Given the description of an element on the screen output the (x, y) to click on. 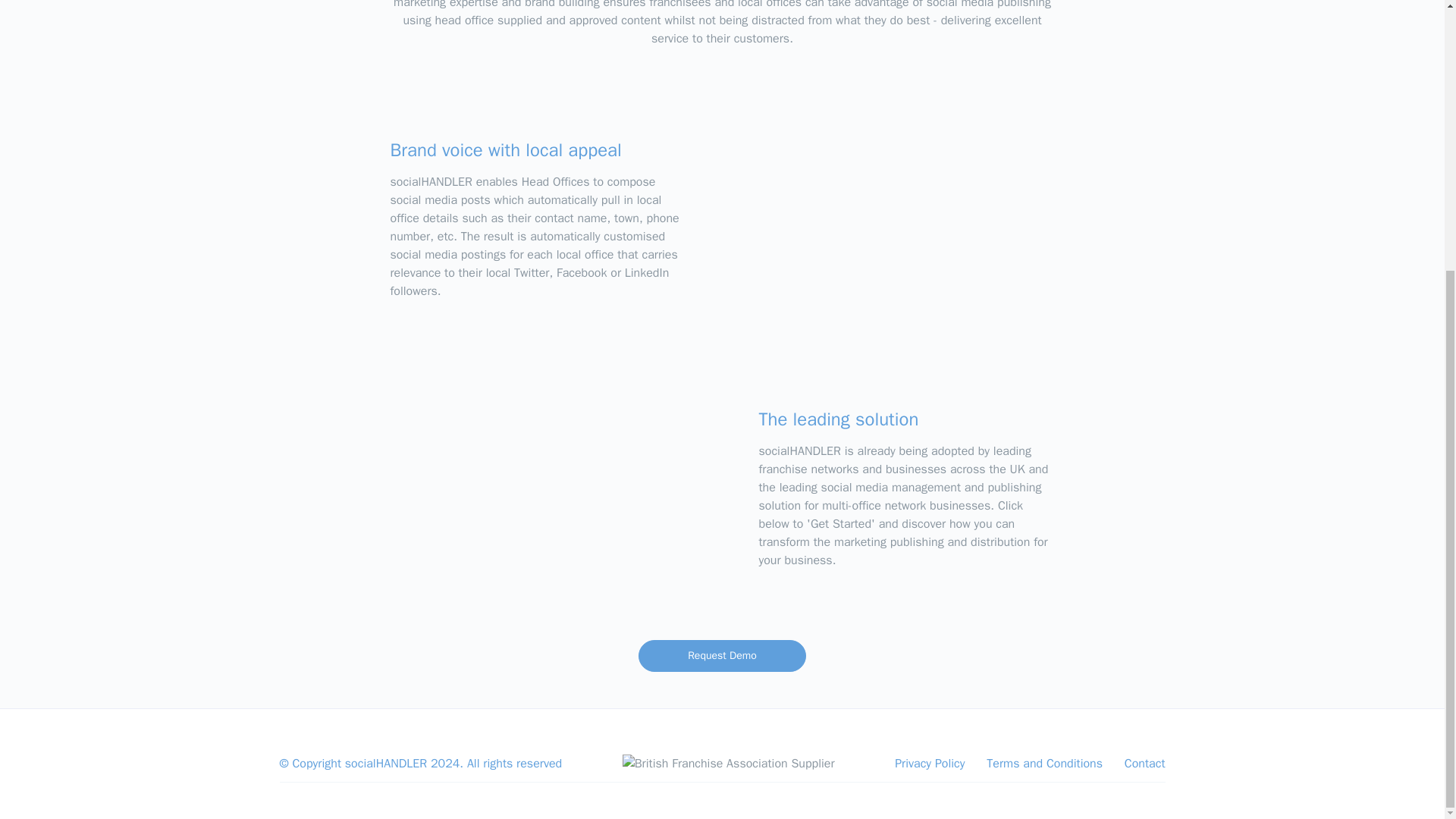
Request Demo (722, 655)
Terms and Conditions (1044, 763)
Privacy Policy (929, 763)
Contact (1144, 763)
